Given the description of an element on the screen output the (x, y) to click on. 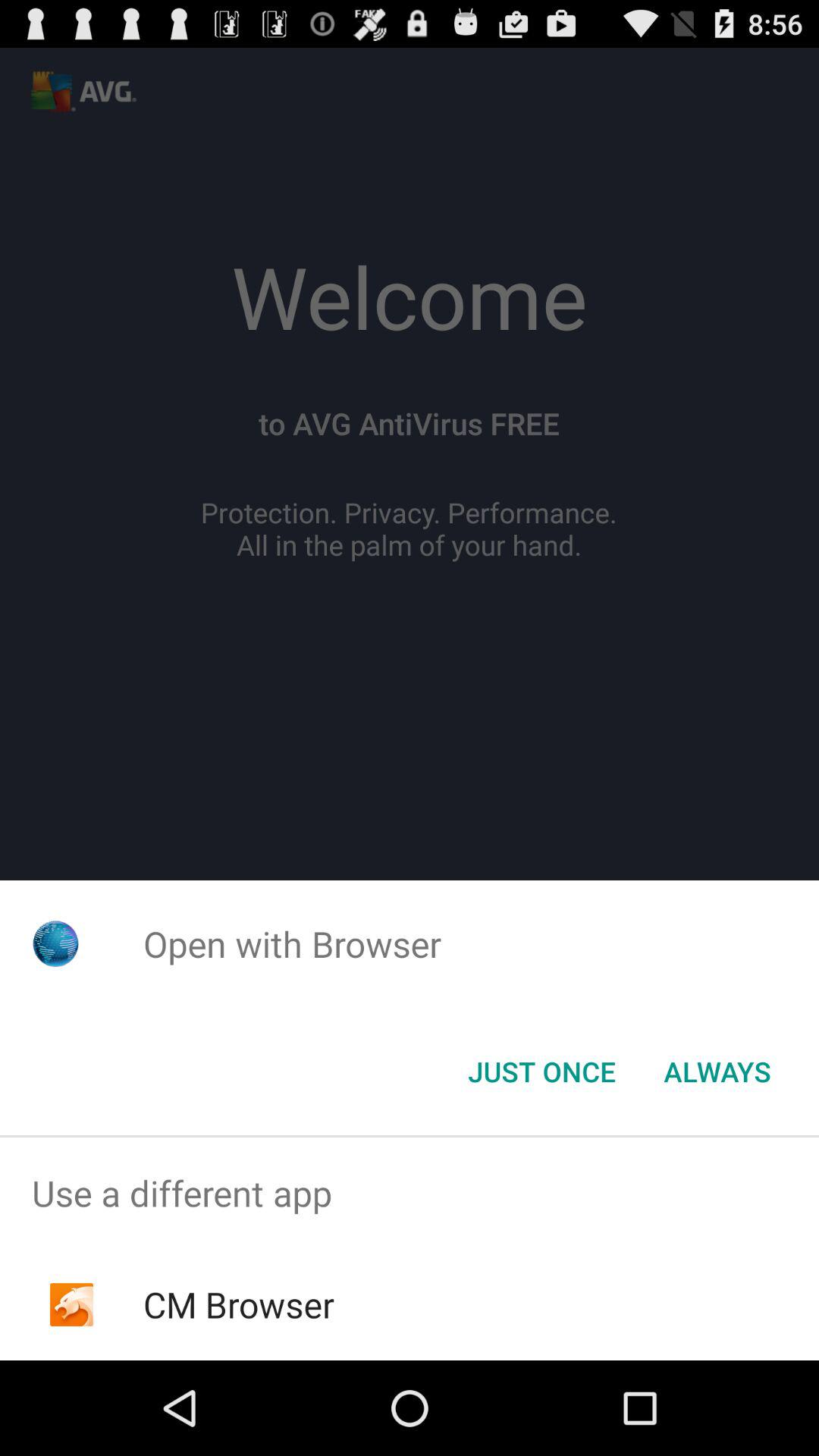
flip until the just once (541, 1071)
